Given the description of an element on the screen output the (x, y) to click on. 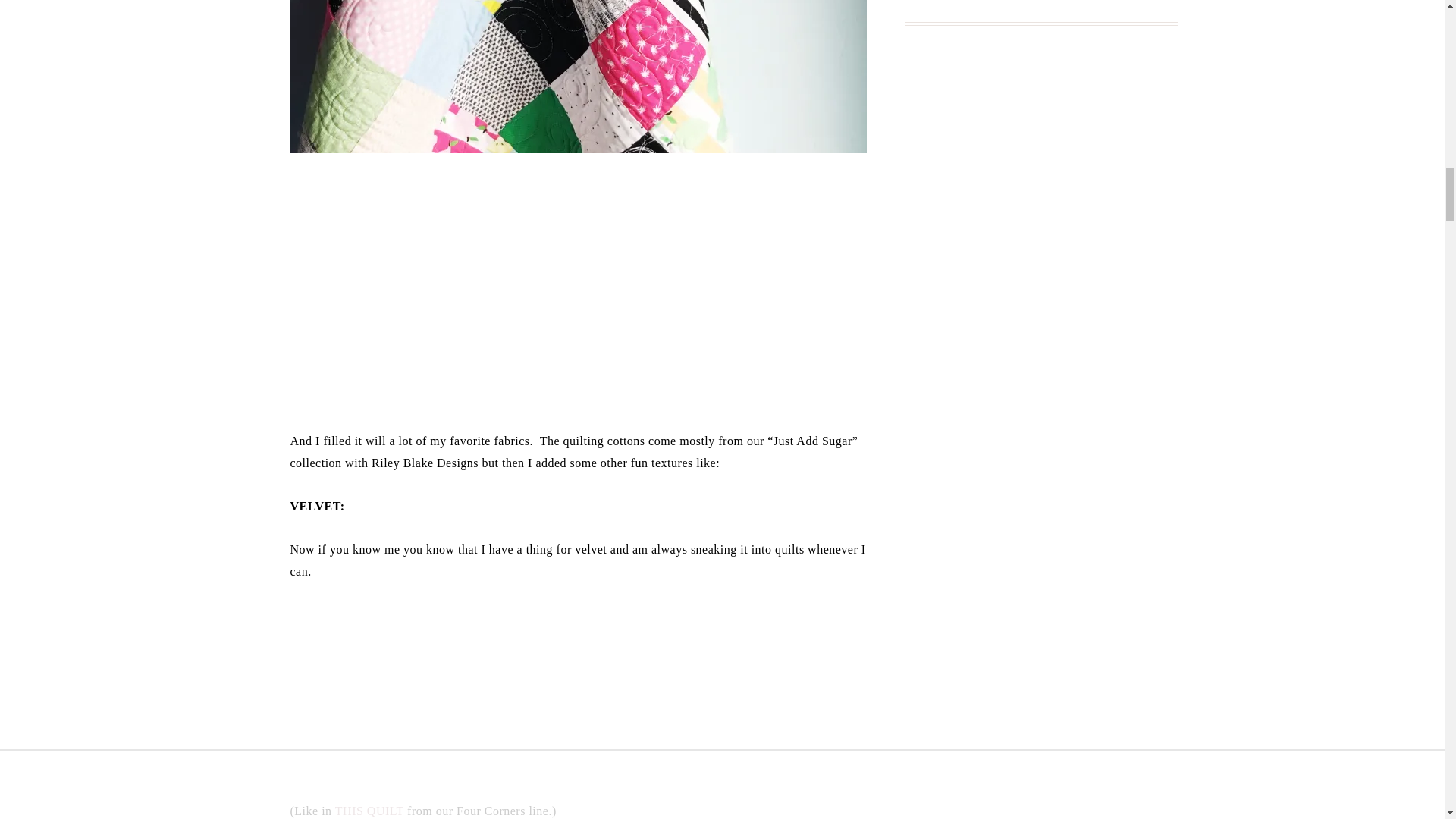
THIS QUILT (369, 810)
